Given the description of an element on the screen output the (x, y) to click on. 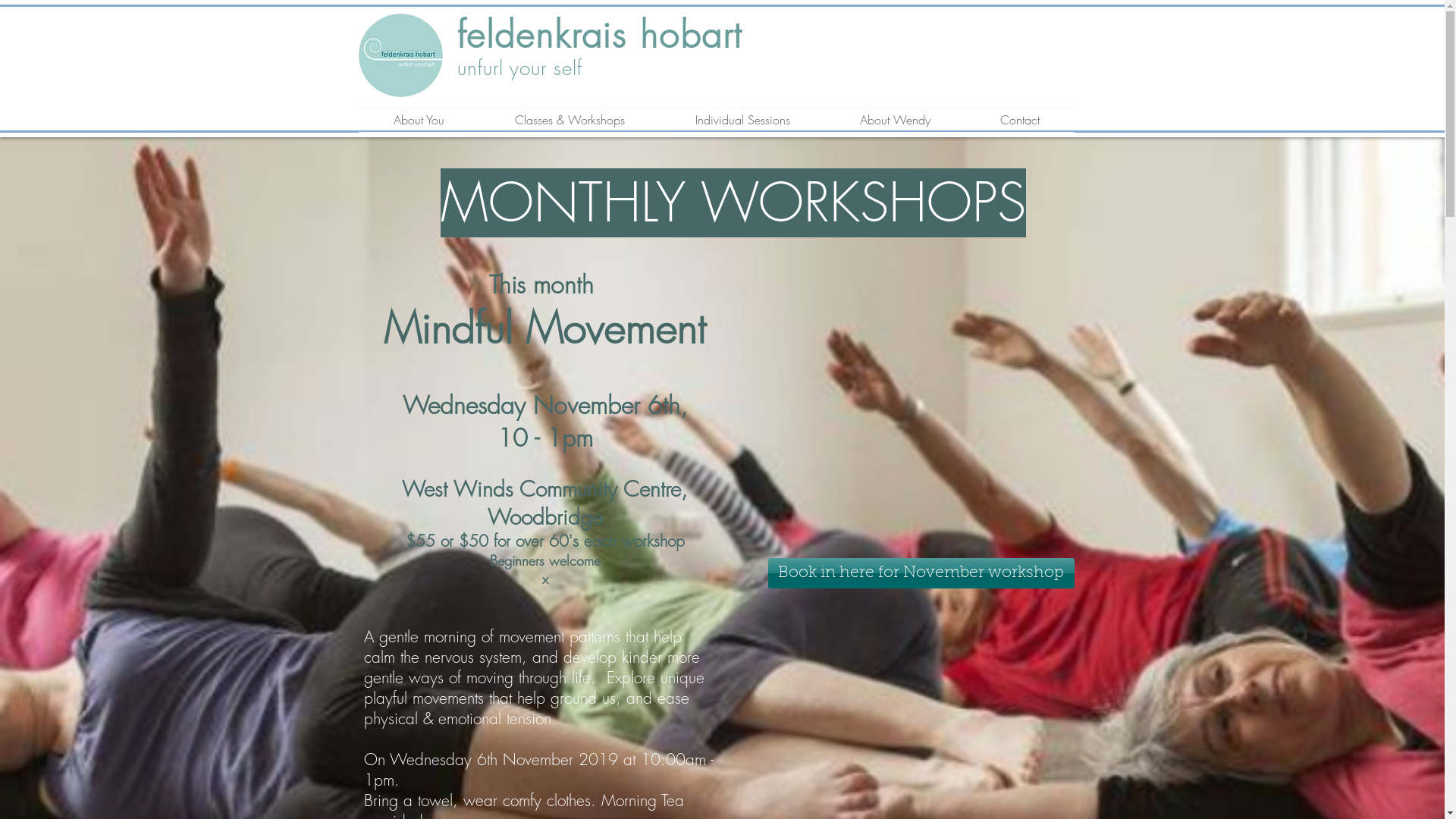
Individual Sessions Element type: text (741, 119)
About Wendy Element type: text (895, 119)
Book in here for November workshop Element type: text (920, 573)
Contact Element type: text (1018, 119)
About You Element type: text (418, 119)
